Given the description of an element on the screen output the (x, y) to click on. 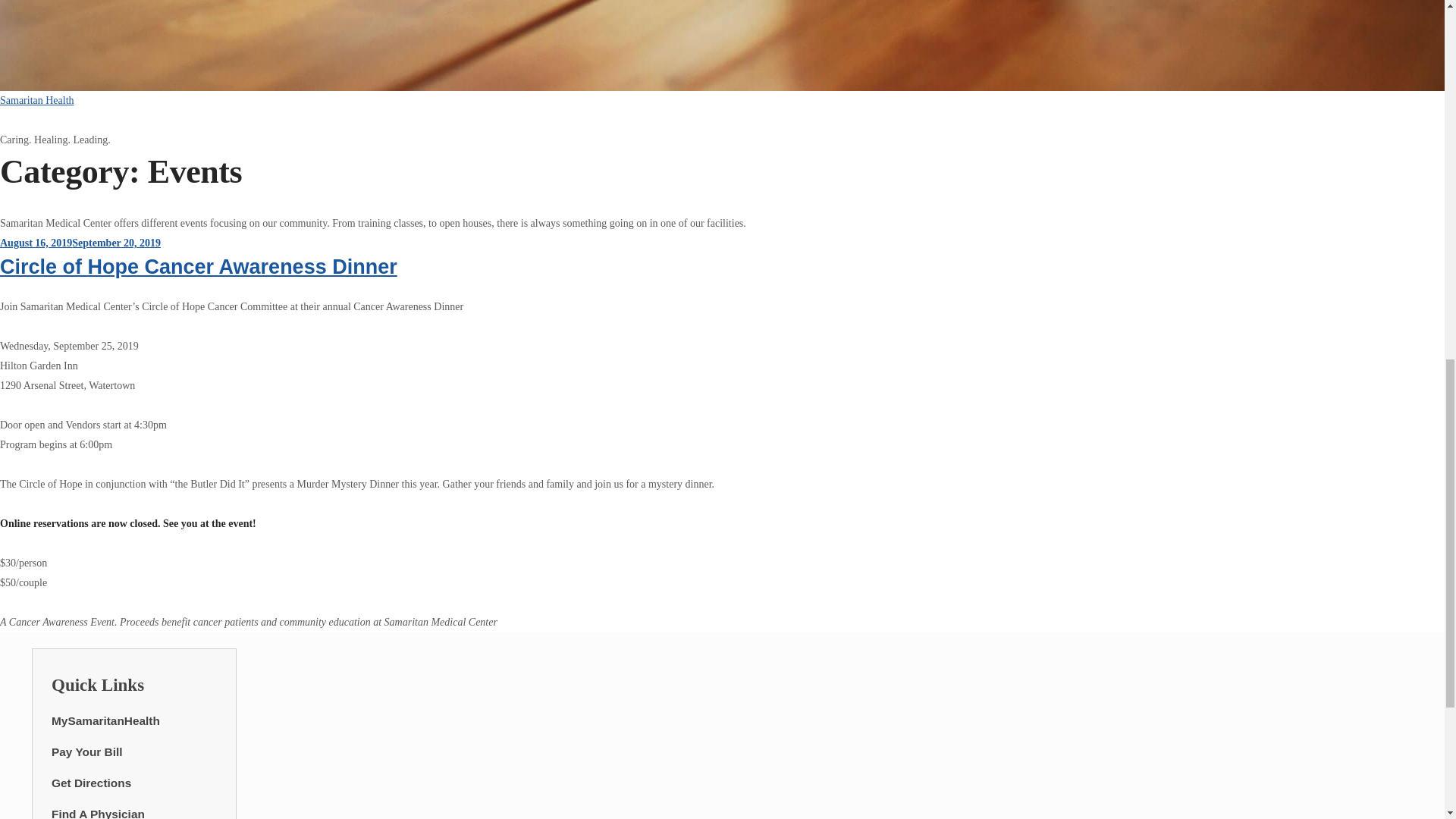
Pay Your Bill (86, 751)
Find A Physician (97, 813)
Get Directions (90, 782)
MySamaritanHealth (105, 720)
Circle of Hope Cancer Awareness Dinner (198, 266)
Samaritan Health (37, 100)
August 16, 2019September 20, 2019 (80, 242)
